Given the description of an element on the screen output the (x, y) to click on. 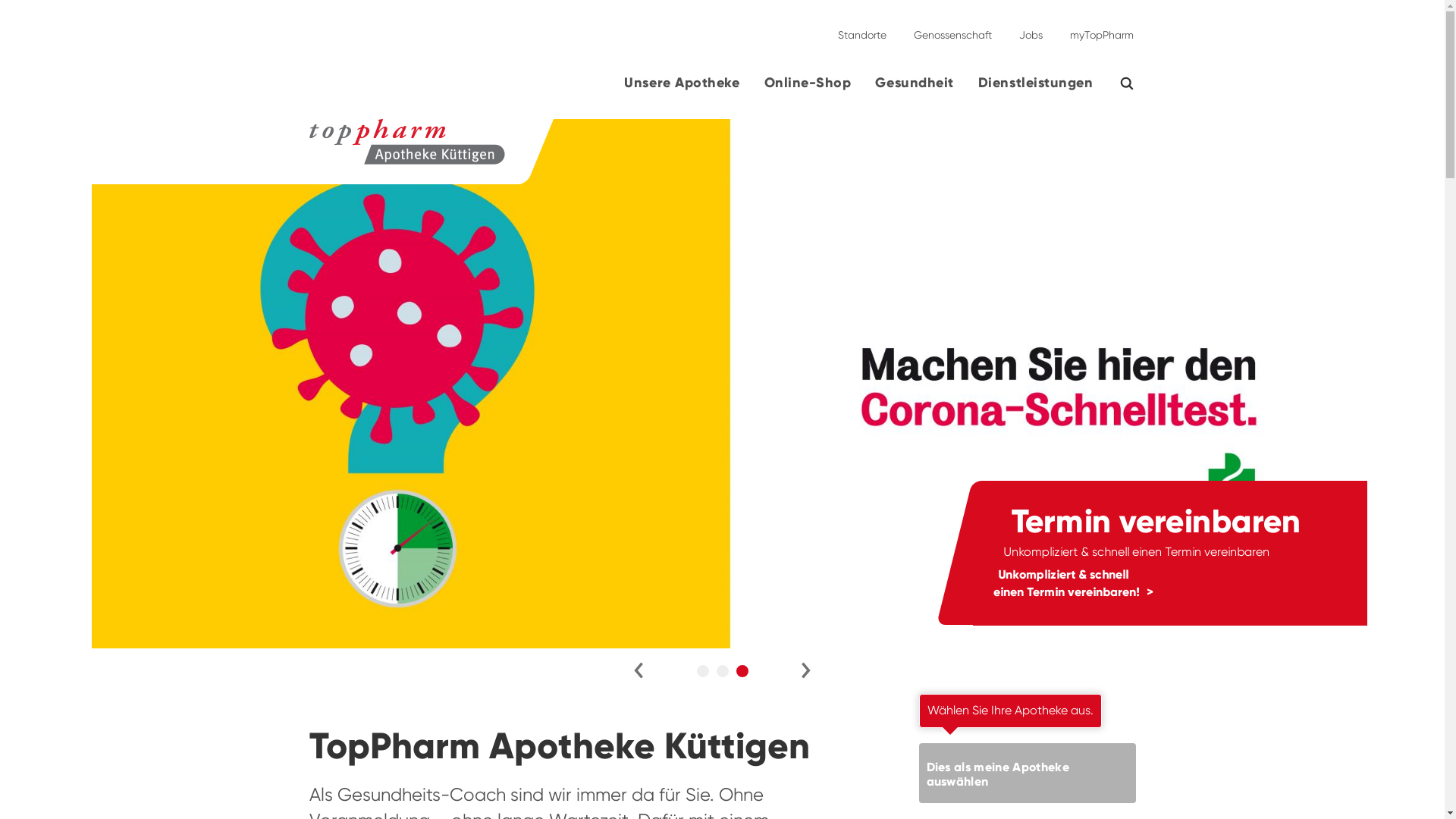
Genossenschaft Element type: text (951, 29)
myTopPharm Element type: text (1096, 29)
Suche Element type: text (1135, 82)
Unsere Apotheke Element type: text (681, 88)
Standorte Element type: text (861, 29)
Gesundheit Element type: text (913, 88)
Online-Shop Element type: text (807, 88)
Dienstleistungen Element type: text (1035, 88)
Jobs Element type: text (1030, 29)
